Given the description of an element on the screen output the (x, y) to click on. 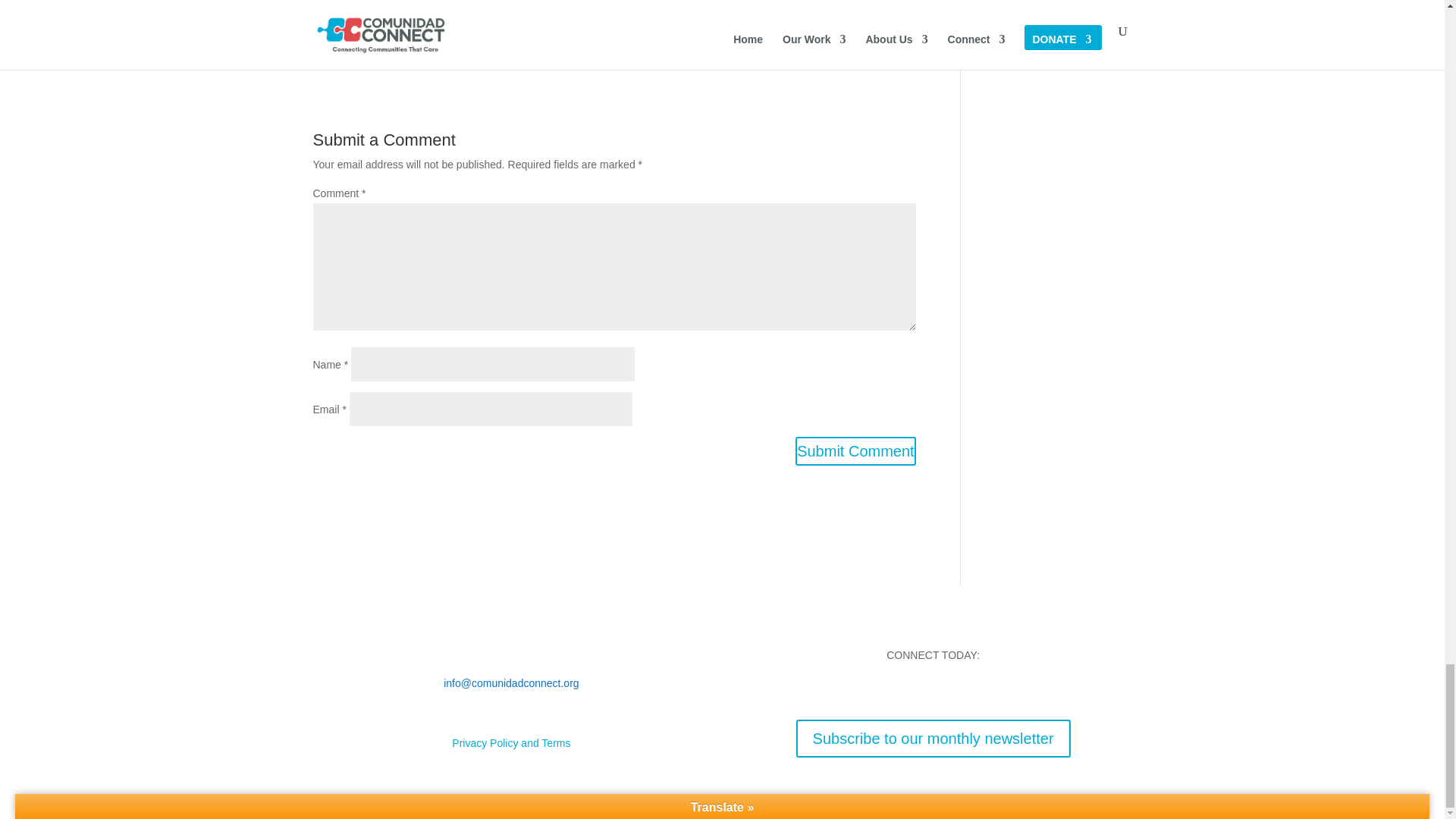
Submit Comment (854, 451)
Follow on Instagram (903, 689)
Follow on Youtube (932, 689)
Submit Comment (854, 451)
Follow on Facebook (872, 689)
